Given the description of an element on the screen output the (x, y) to click on. 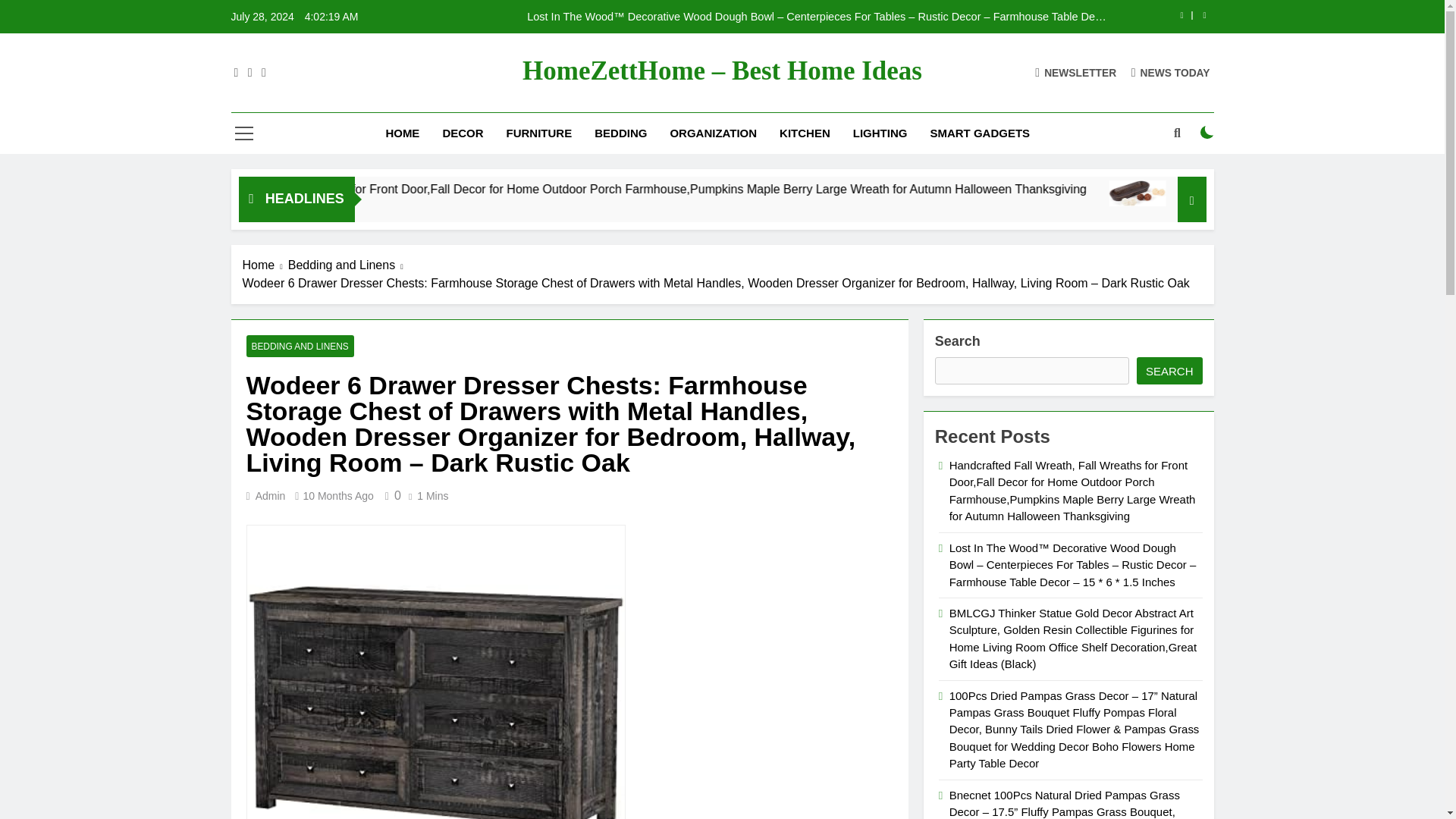
BEDDING (620, 133)
FURNITURE (539, 133)
NEWSLETTER (1075, 72)
LIGHTING (879, 133)
DECOR (462, 133)
SMART GADGETS (979, 133)
KITCHEN (804, 133)
HOME (402, 133)
on (1206, 132)
NEWS TODAY (1170, 72)
ORGANIZATION (713, 133)
